Given the description of an element on the screen output the (x, y) to click on. 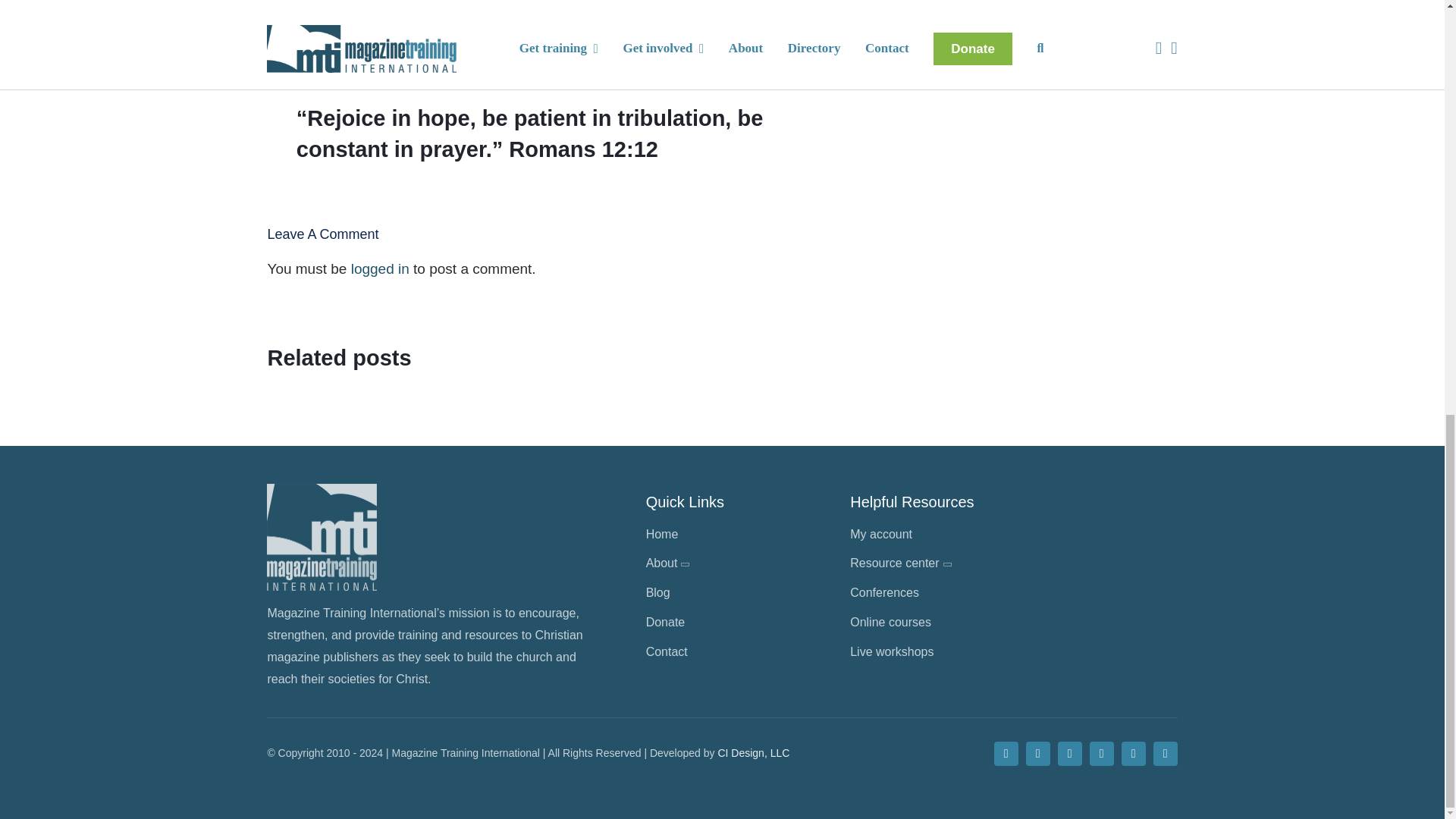
LinkedIn (1133, 753)
X (1037, 753)
Facebook (1005, 753)
logged in (379, 268)
Rss (1165, 753)
Pinterest (1069, 753)
YouTube (1101, 753)
